Given the description of an element on the screen output the (x, y) to click on. 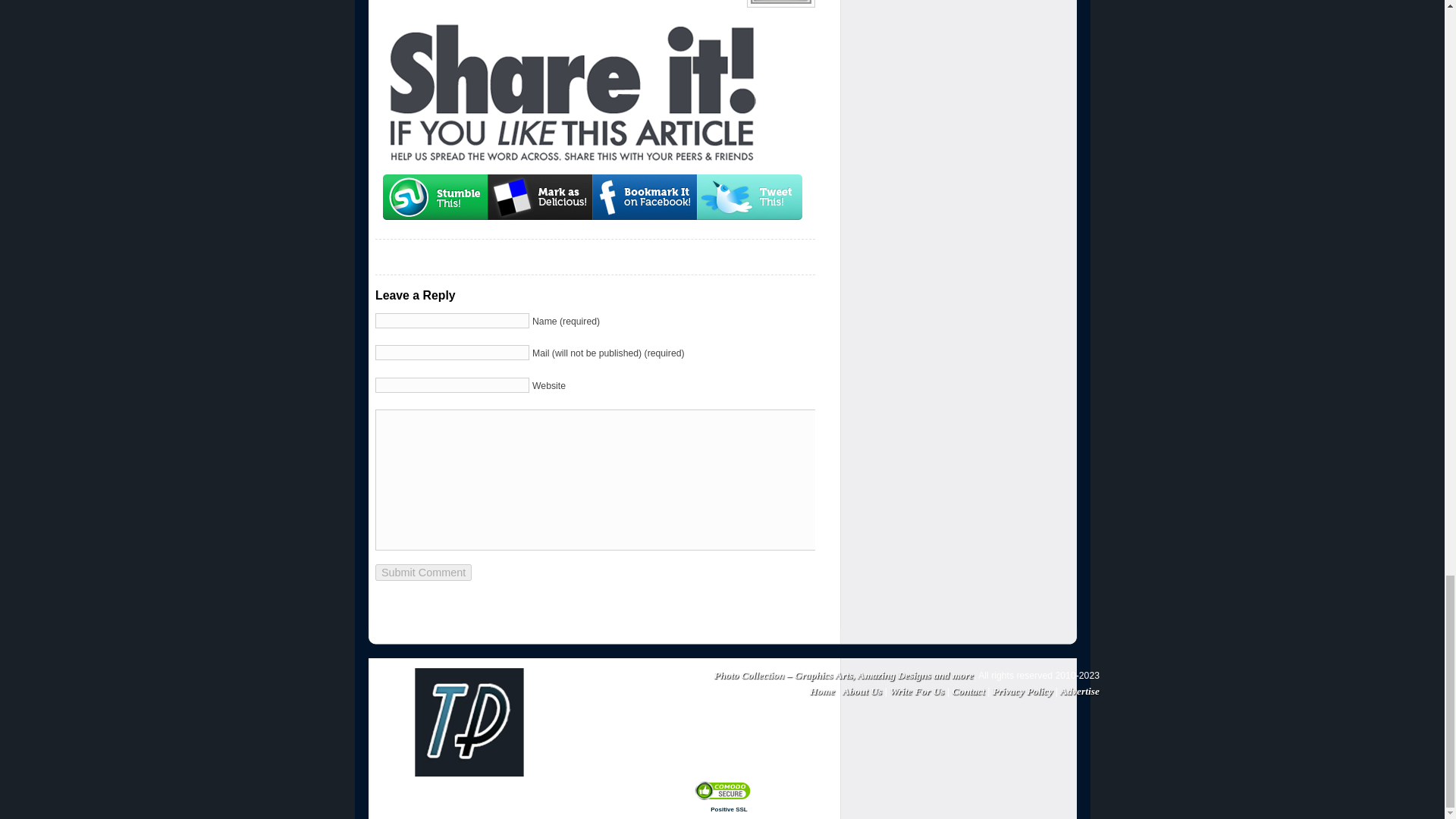
Tweet This! (749, 197)
Stumble This (434, 197)
Submit Comment (423, 572)
Add to Facebook (644, 197)
Add to Delicious Bookmarks (539, 197)
Submit Comment (423, 572)
